Given the description of an element on the screen output the (x, y) to click on. 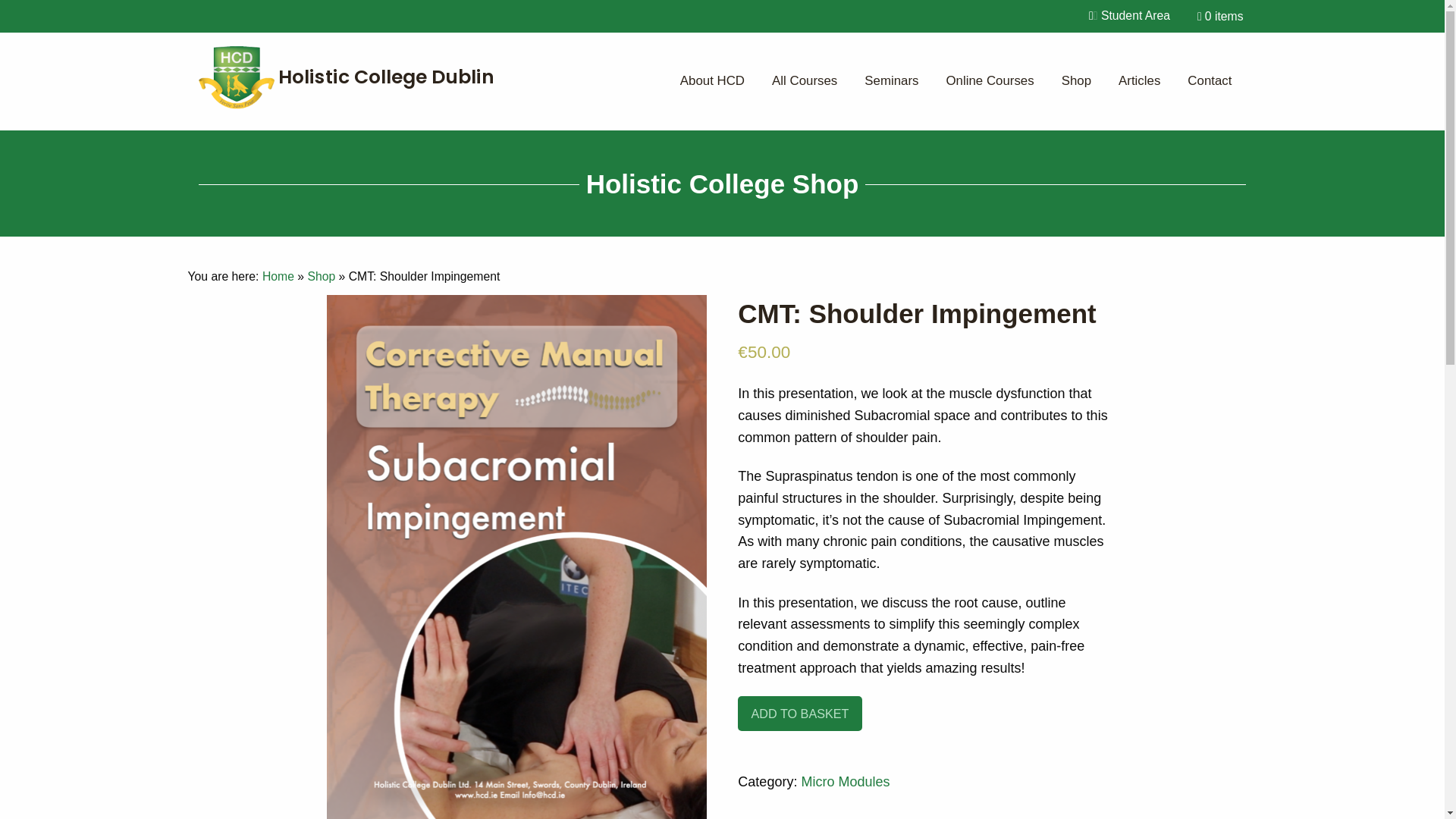
Holistic College Dublin Homepage (350, 76)
About HCD (712, 81)
Start shopping (1219, 16)
ADD TO BASKET (799, 713)
Micro Modules (844, 781)
Student Area (1129, 16)
All Courses (804, 81)
Online Courses (988, 81)
Articles (1139, 81)
Shop (320, 276)
Seminars (890, 81)
Shop (1076, 81)
Contact (1208, 81)
0 items (1219, 16)
Home (278, 276)
